Given the description of an element on the screen output the (x, y) to click on. 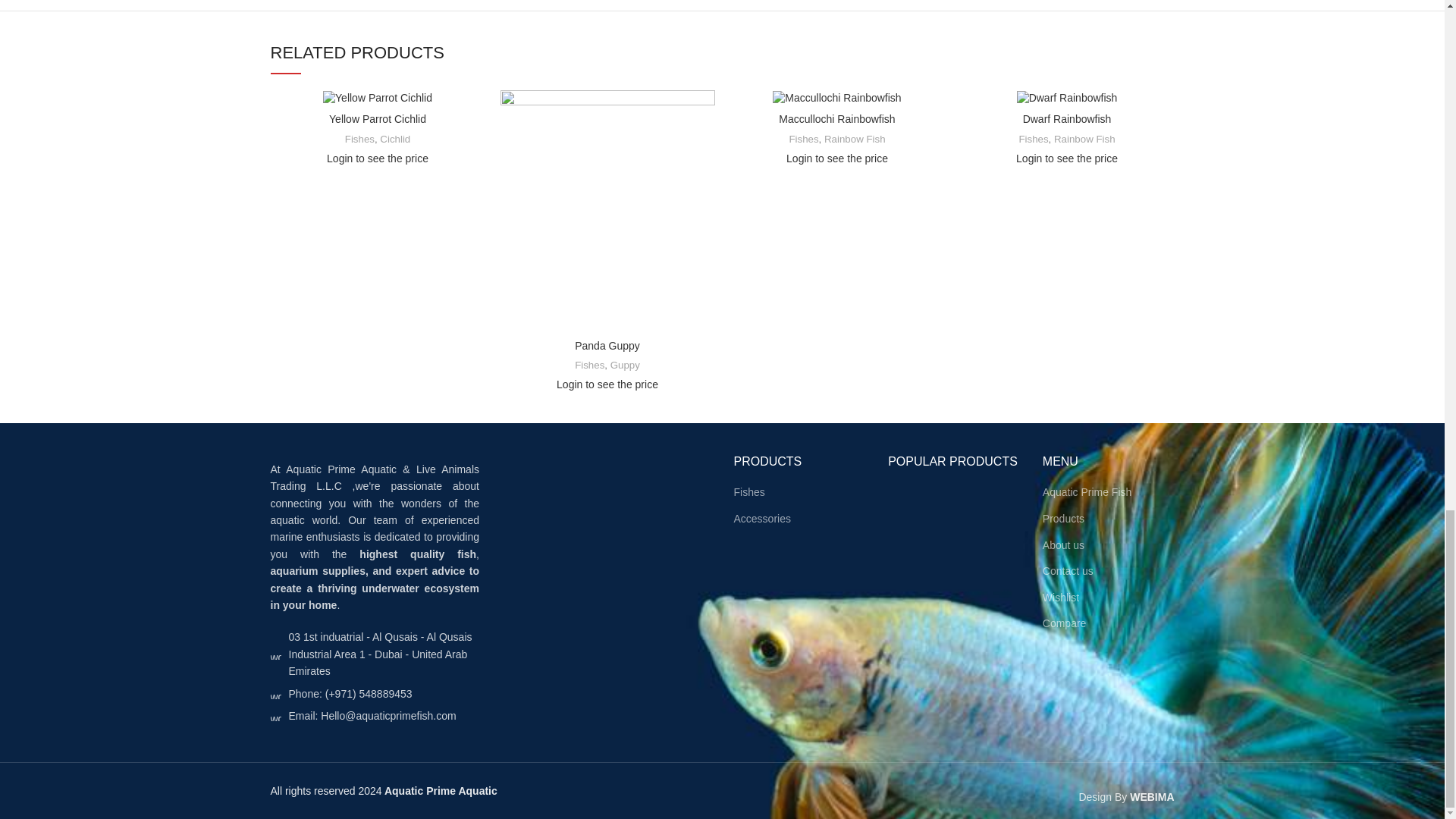
wd-cursor-light (275, 654)
wd-envelope-light (275, 715)
wd-phone-light (275, 693)
